Given the description of an element on the screen output the (x, y) to click on. 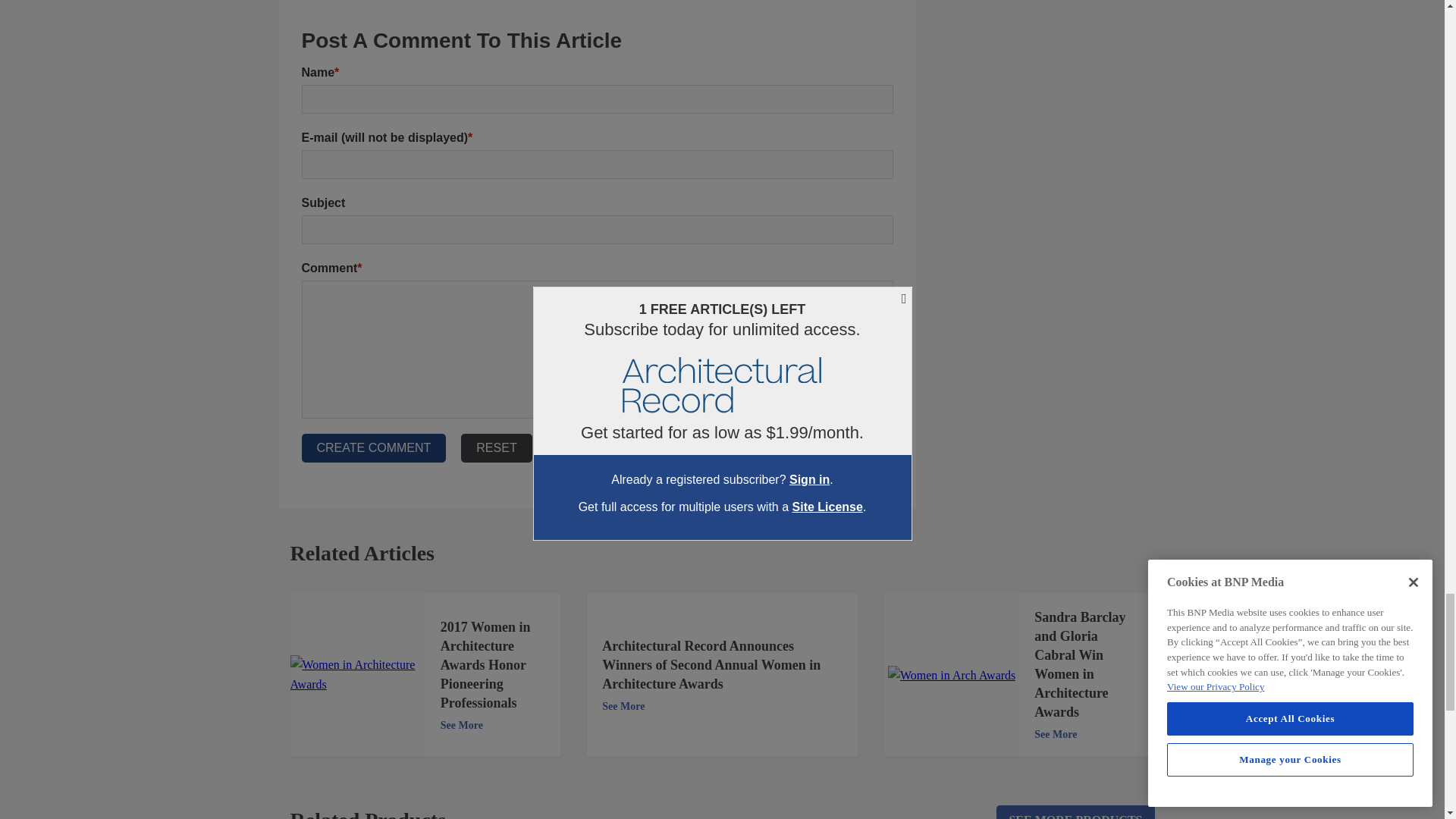
Create Comment (373, 448)
Reset (496, 448)
